Given the description of an element on the screen output the (x, y) to click on. 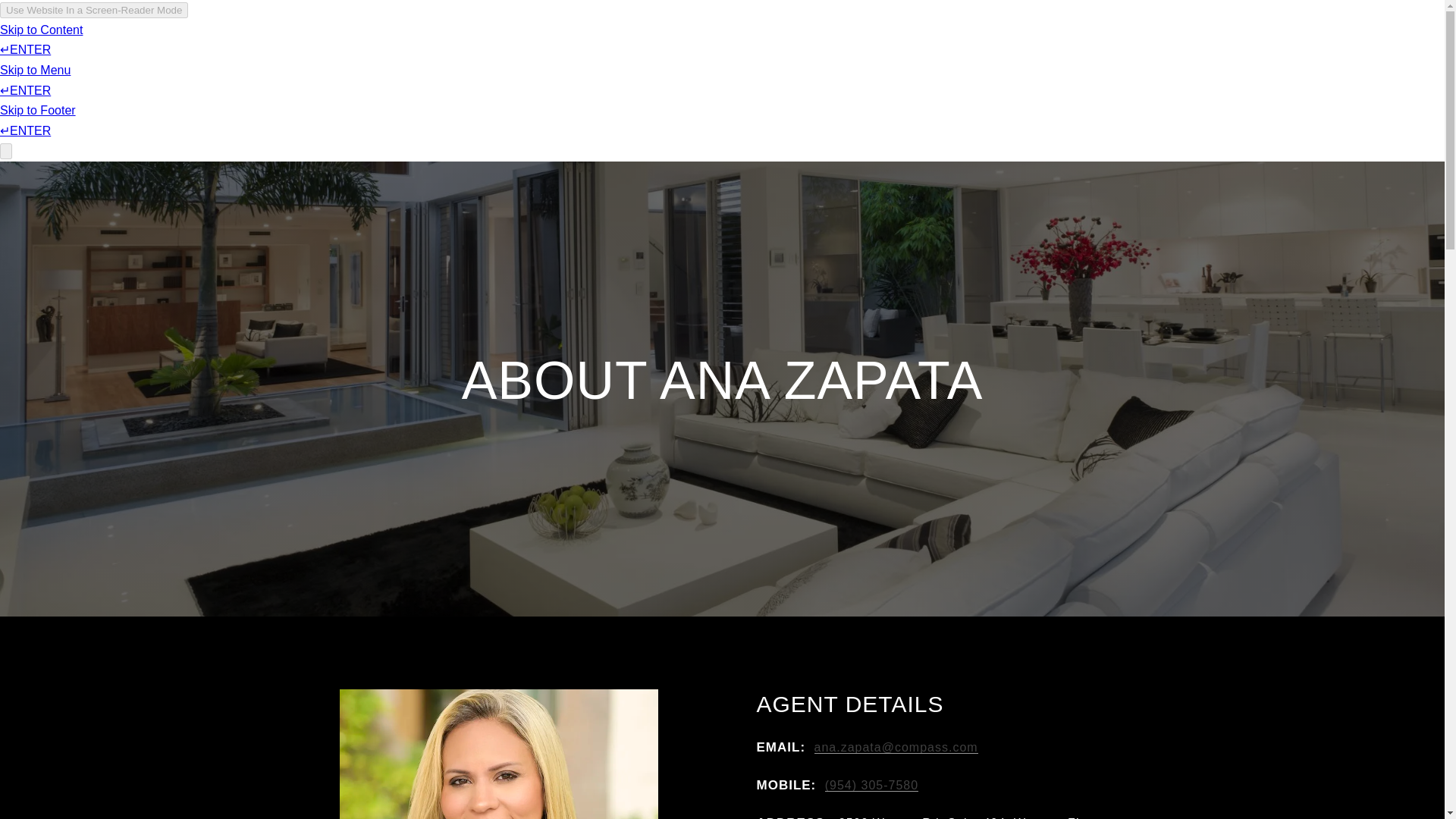
CONTACT US (1157, 55)
PARTNERSHIPS (1055, 55)
PROPERTIES (847, 55)
HOME SEARCH (948, 55)
